Given the description of an element on the screen output the (x, y) to click on. 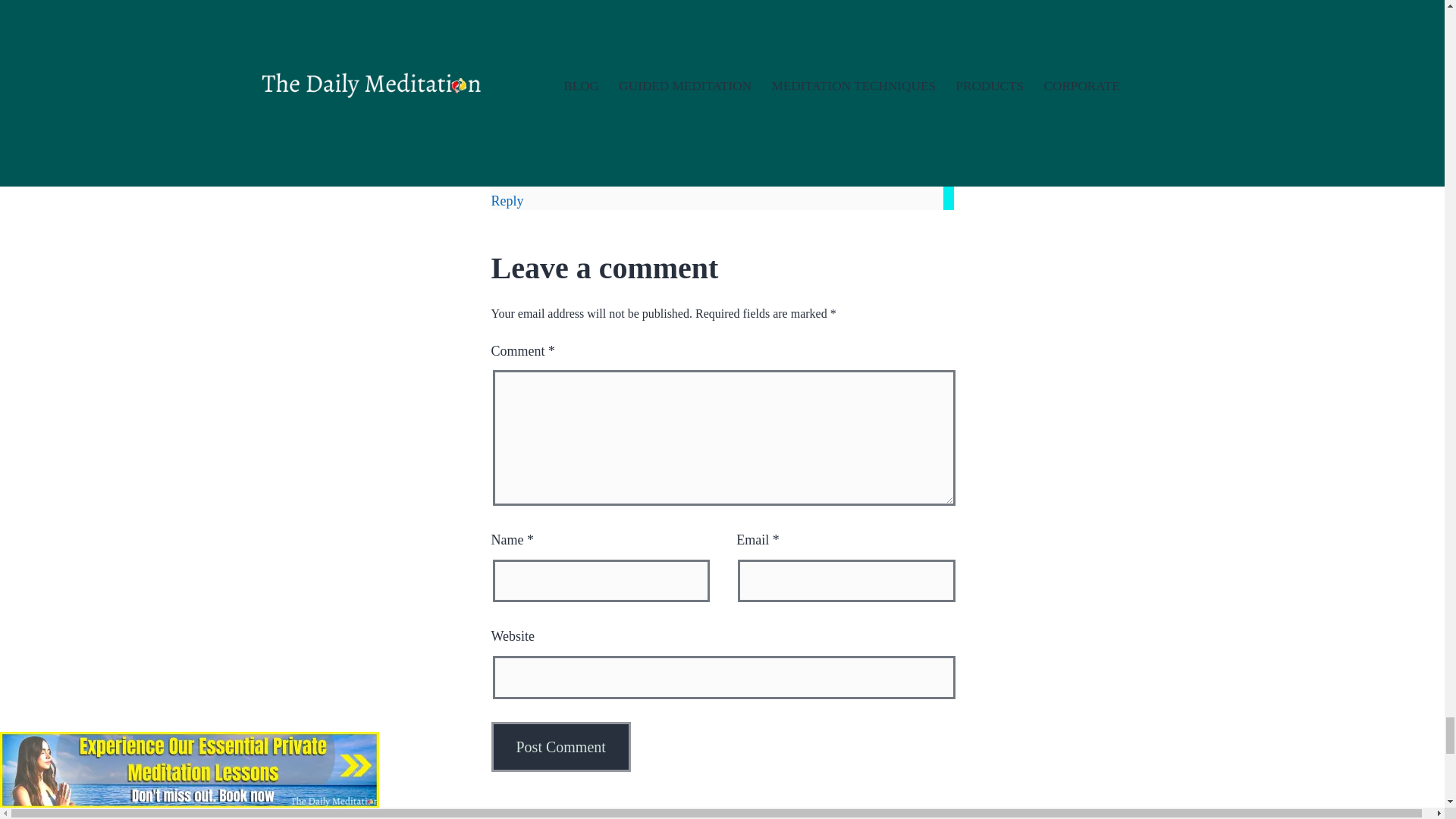
Post Comment (561, 746)
